Given the description of an element on the screen output the (x, y) to click on. 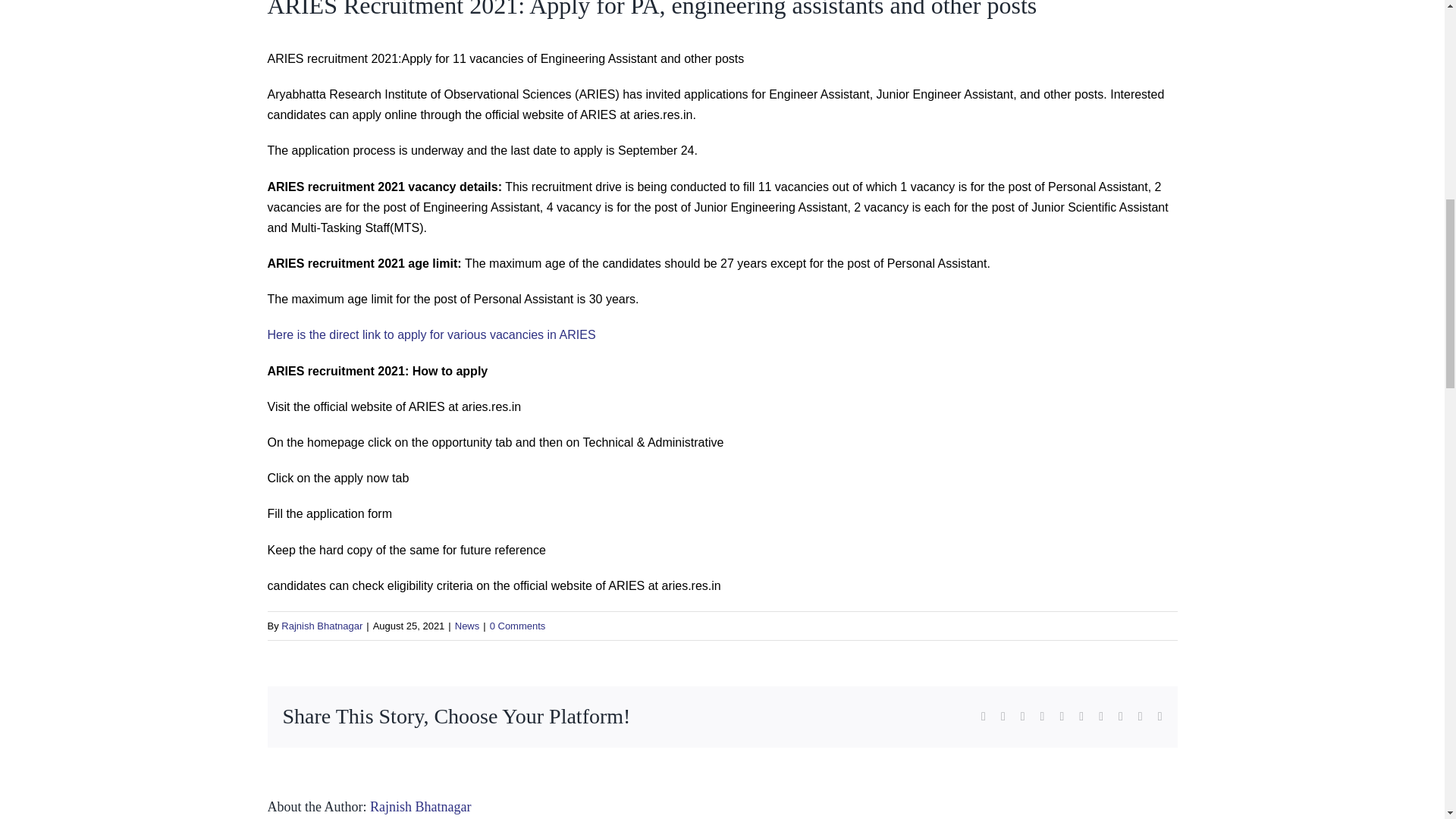
Posts by Rajnish Bhatnagar (321, 625)
